Given the description of an element on the screen output the (x, y) to click on. 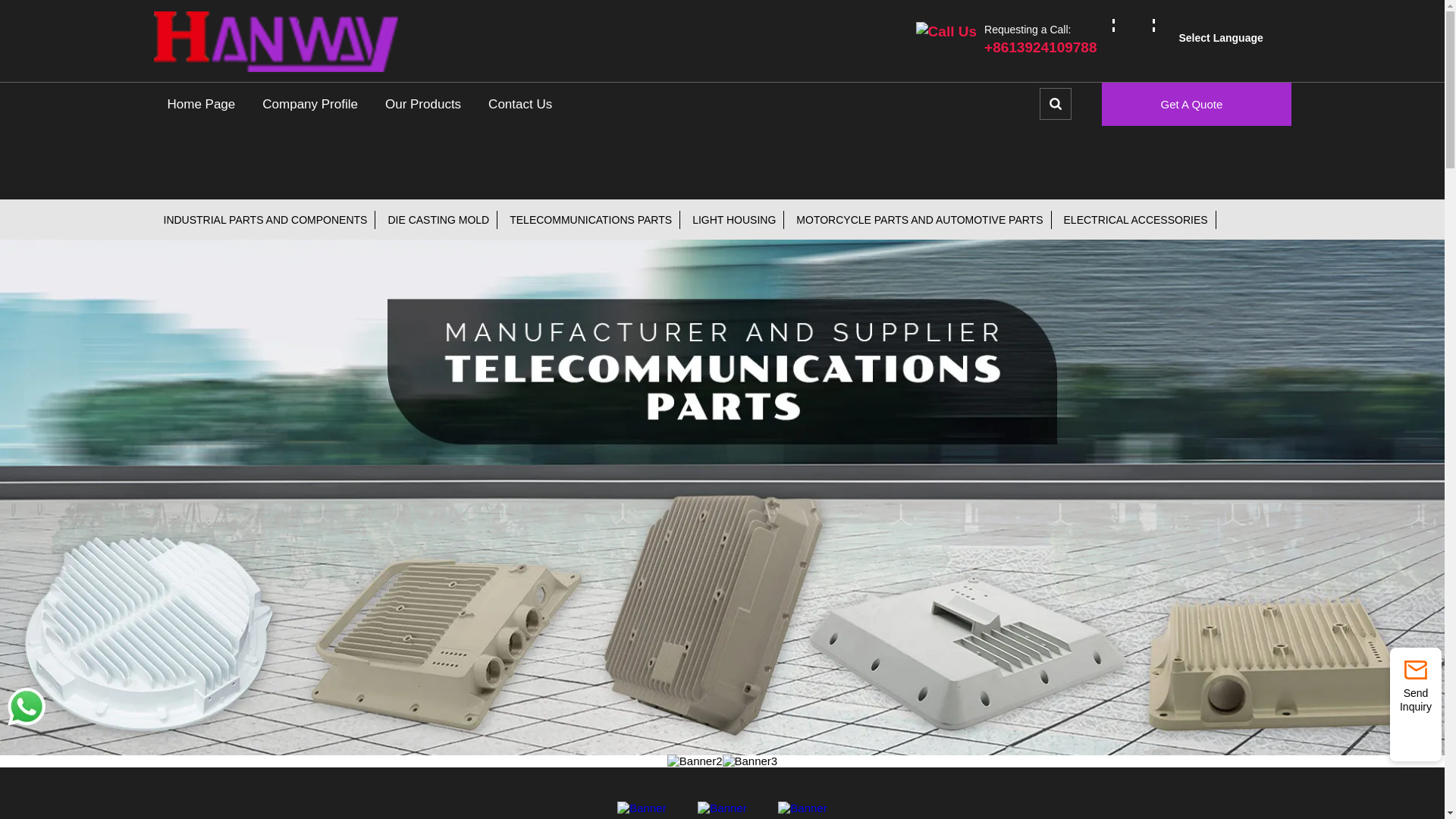
Company Profile (309, 104)
Call Us (949, 29)
Select Language (1229, 37)
Our Products (422, 104)
Home Page (200, 104)
Hanway Metal Products Co. Ltd. (274, 41)
